Given the description of an element on the screen output the (x, y) to click on. 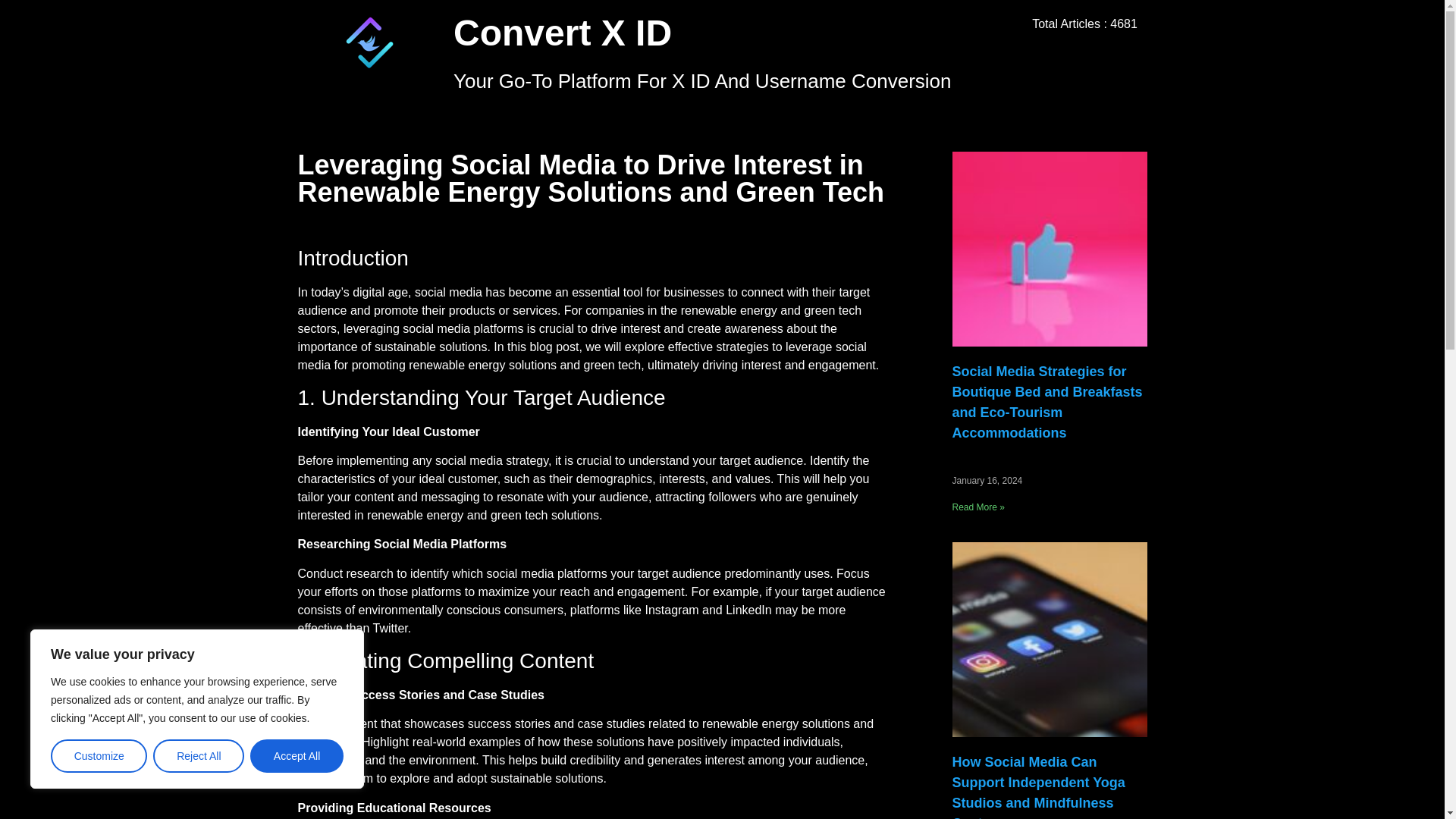
Customize (98, 756)
Accept All (296, 756)
Reject All (198, 756)
